Given the description of an element on the screen output the (x, y) to click on. 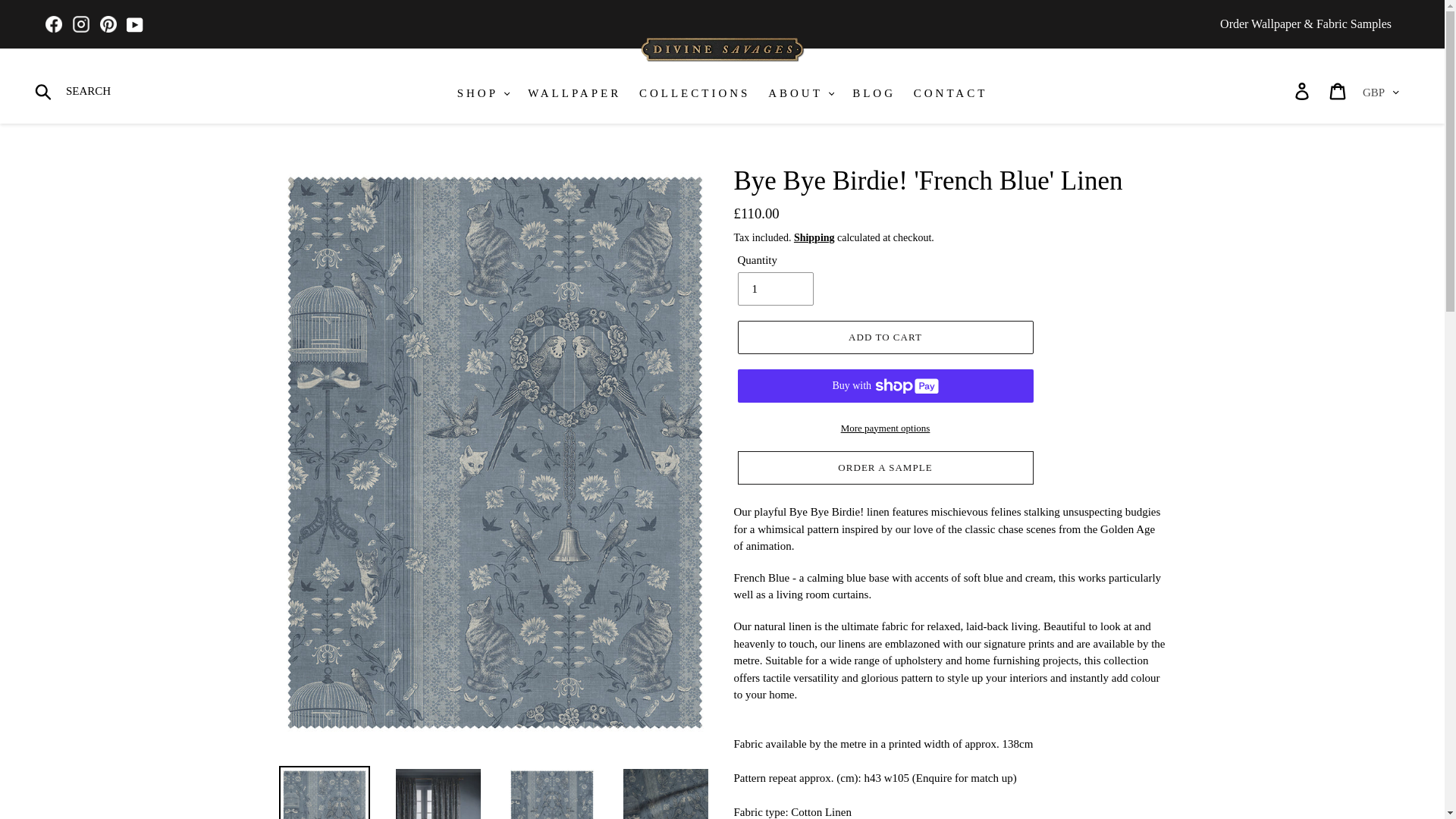
Divine Savages on YouTube (134, 25)
Submit (44, 90)
Log in (1302, 90)
YouTube (134, 25)
Cart (1338, 90)
order a sample (884, 467)
1 (774, 288)
